Given the description of an element on the screen output the (x, y) to click on. 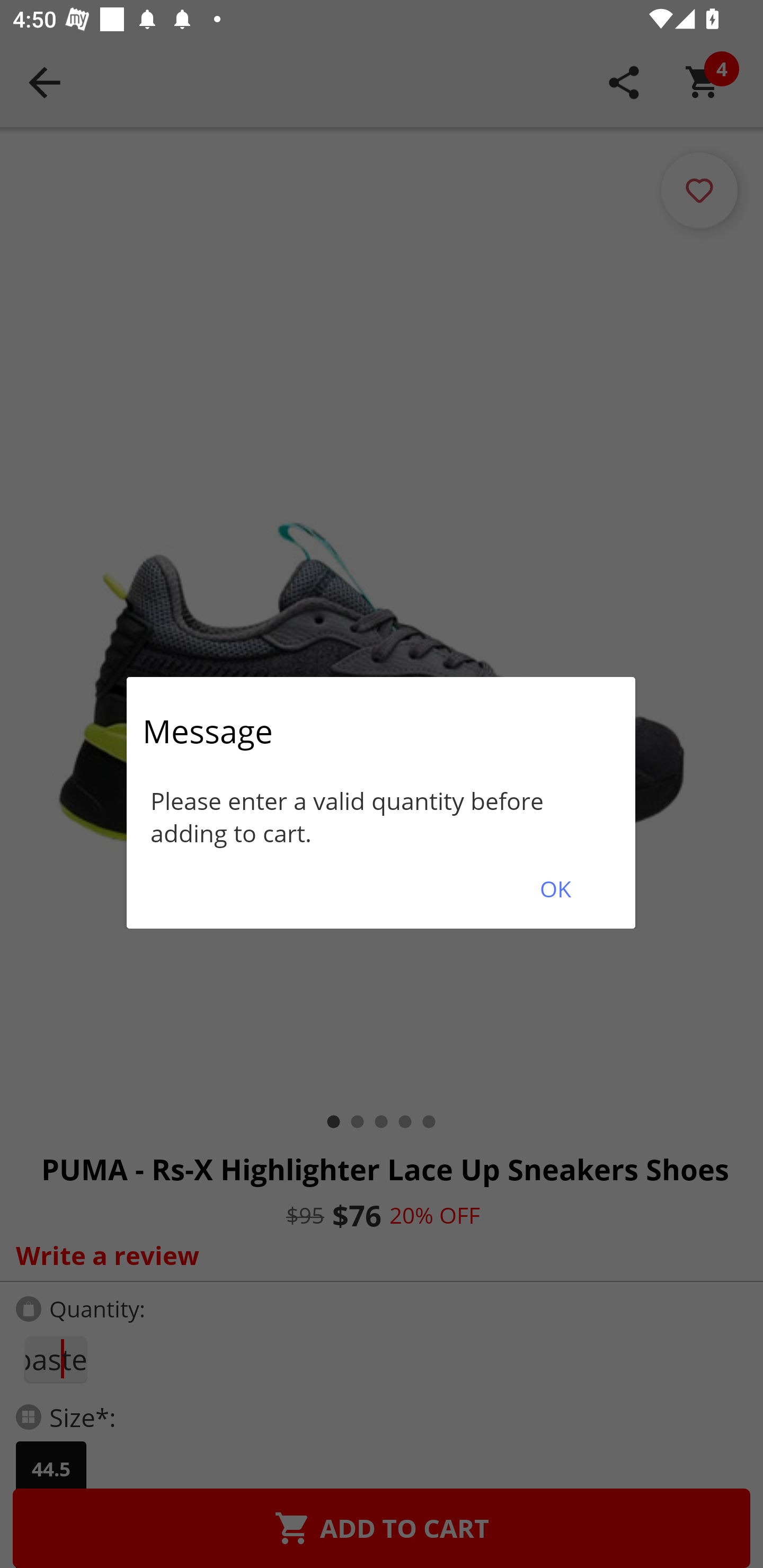
OK (555, 888)
